Given the description of an element on the screen output the (x, y) to click on. 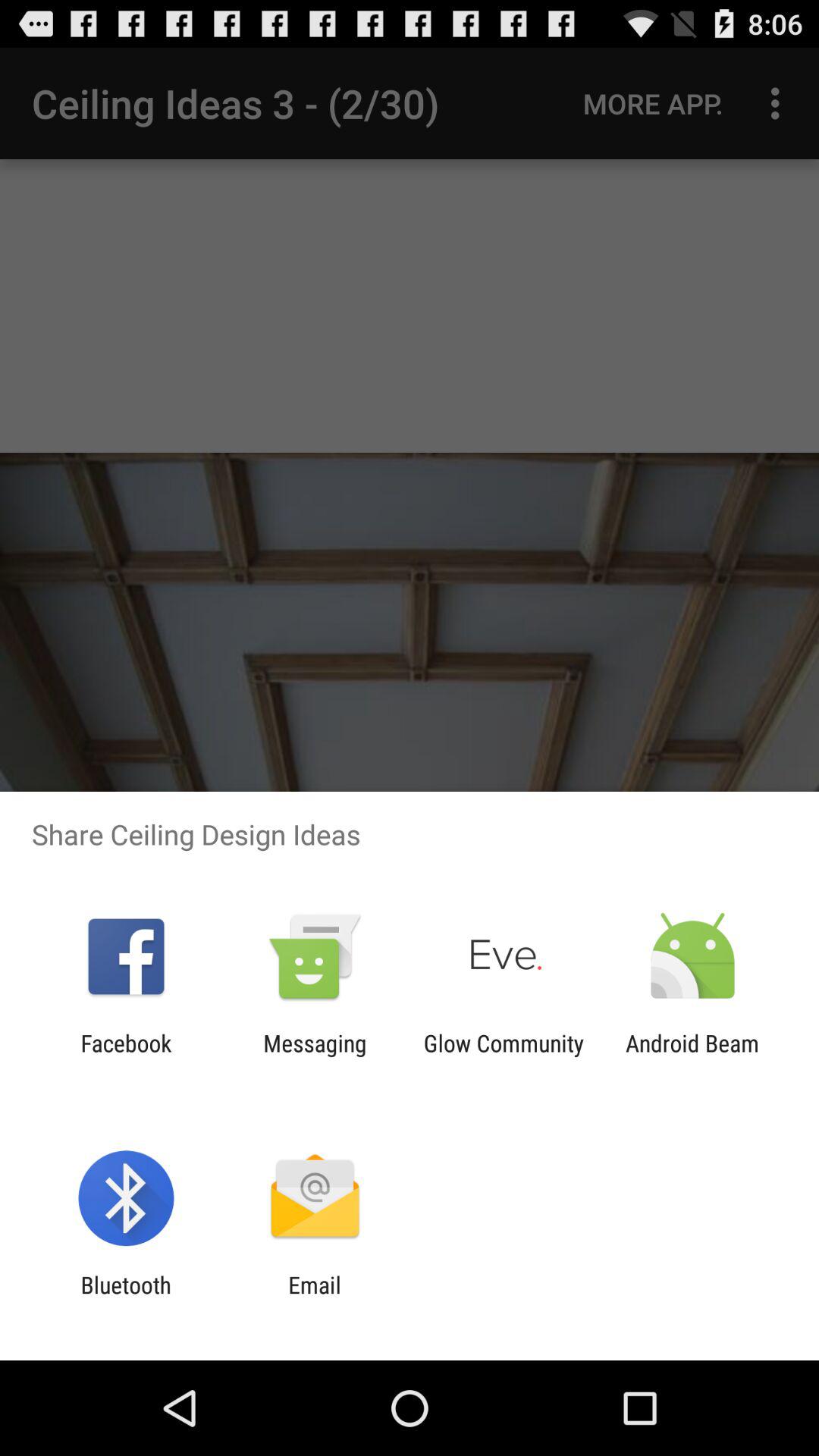
jump to the messaging icon (314, 1056)
